Given the description of an element on the screen output the (x, y) to click on. 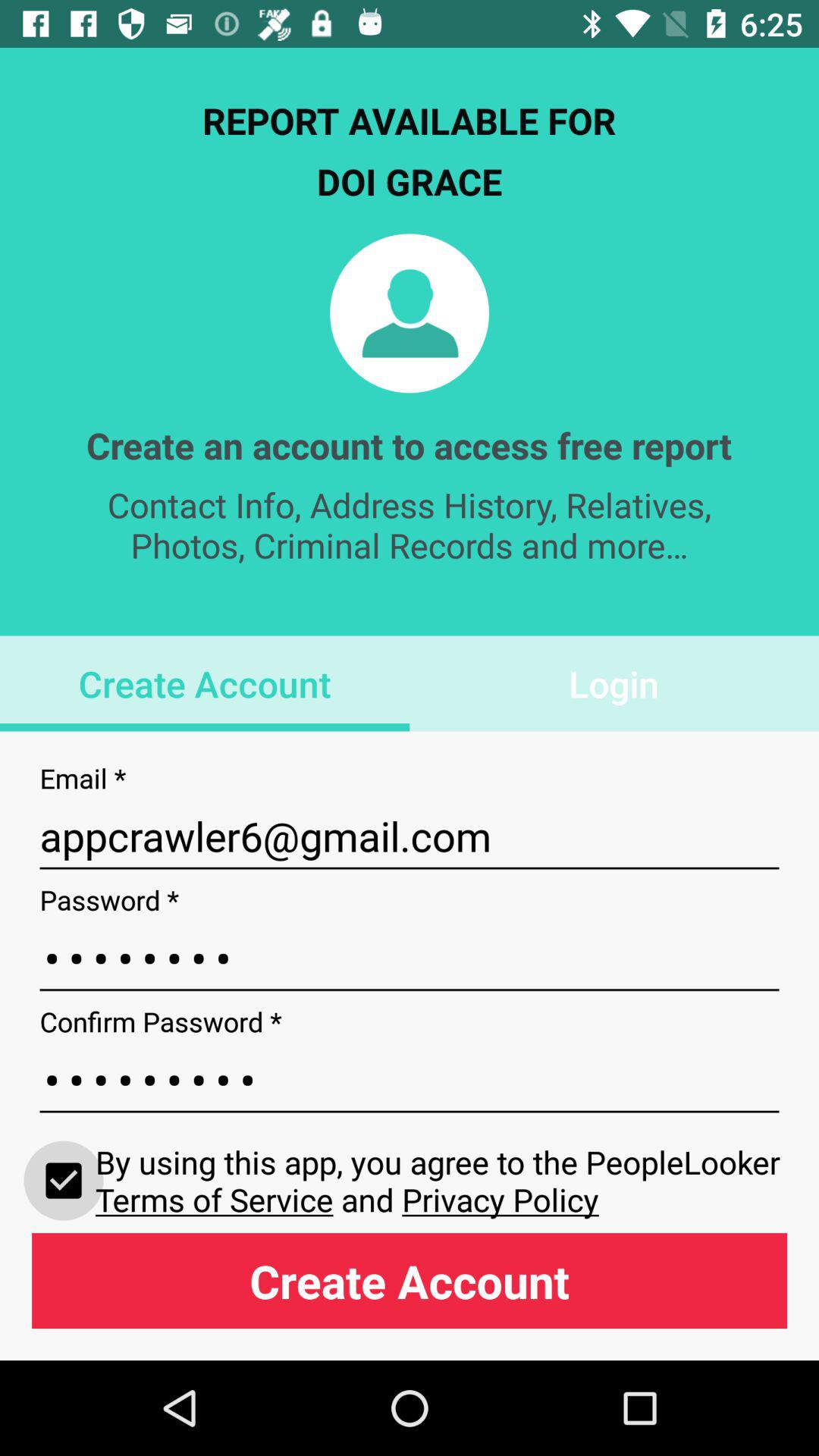
launch the item below crowd3116 (441, 1180)
